Given the description of an element on the screen output the (x, y) to click on. 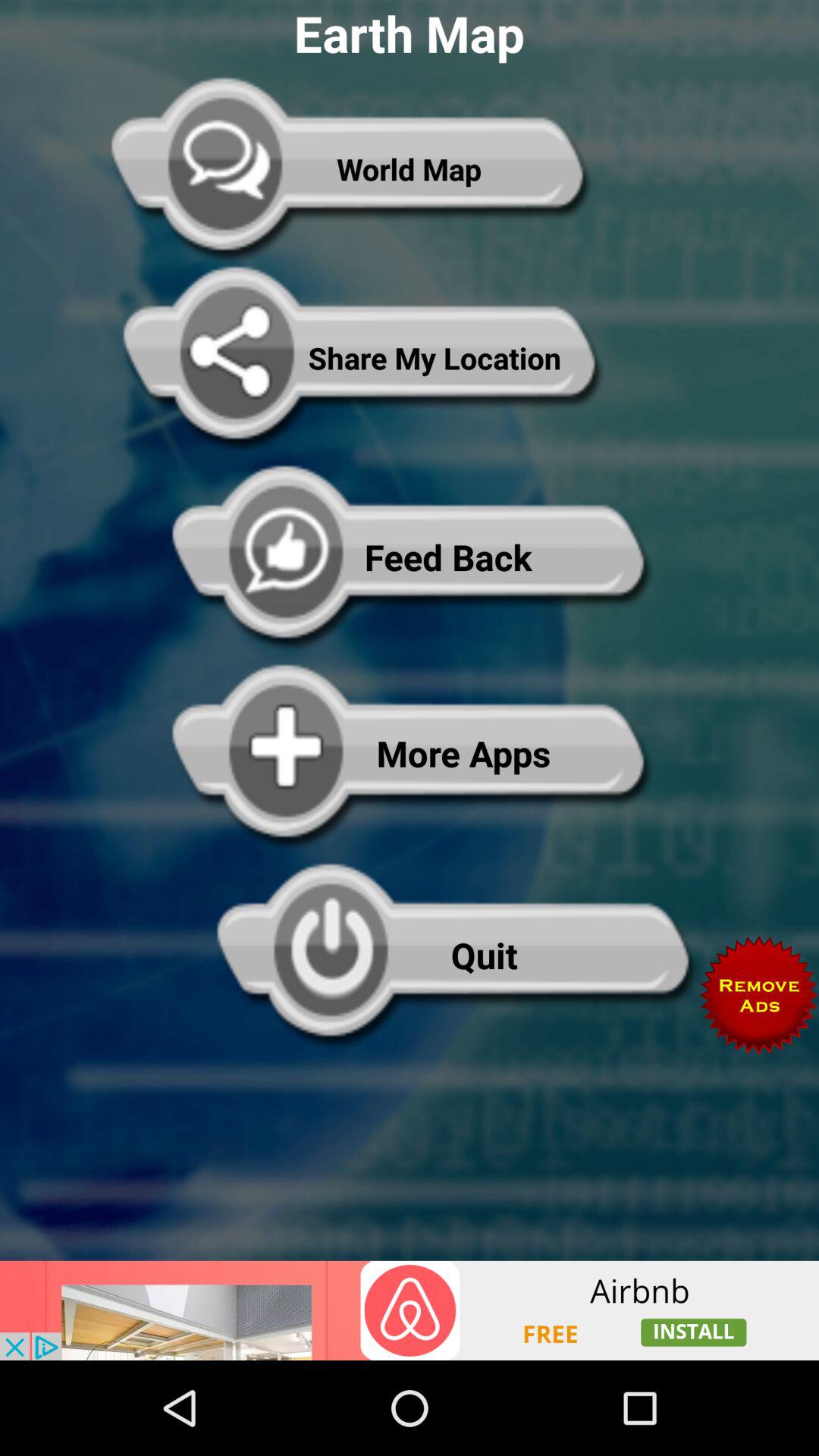
pay to remove advertisements (759, 995)
